Given the description of an element on the screen output the (x, y) to click on. 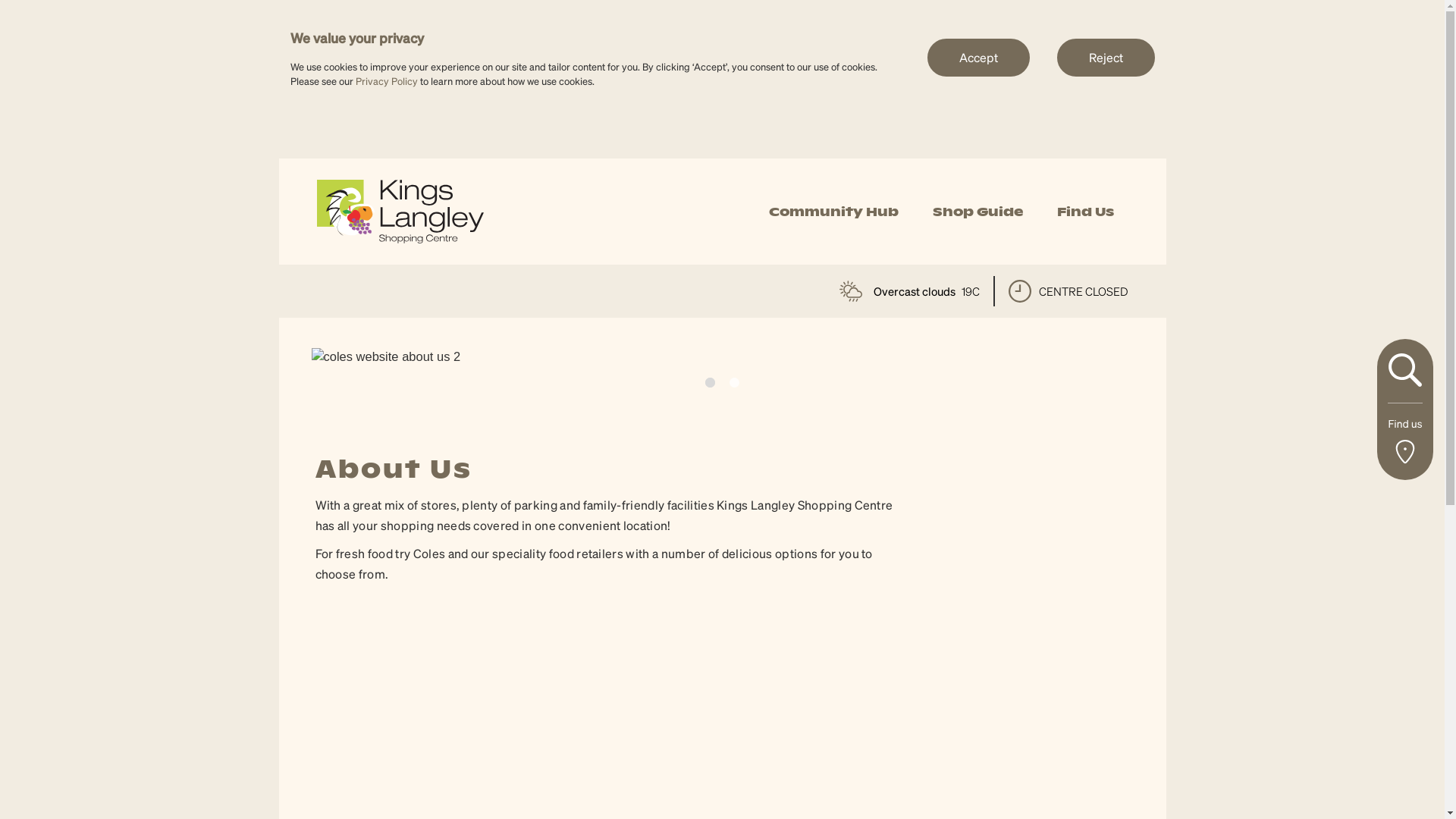
2 Element type: text (734, 387)
1 Element type: text (710, 390)
CENTRE CLOSED Element type: text (1068, 290)
Privacy Policy Element type: text (385, 80)
Reject Element type: text (1105, 56)
Accept Element type: text (977, 56)
time Element type: hover (1019, 290)
Next Element type: text (1096, 221)
Shop Guide Element type: text (977, 211)
Community Hub Element type: text (833, 211)
Find Us Element type: text (1085, 211)
Previous Element type: text (1058, 226)
